Given the description of an element on the screen output the (x, y) to click on. 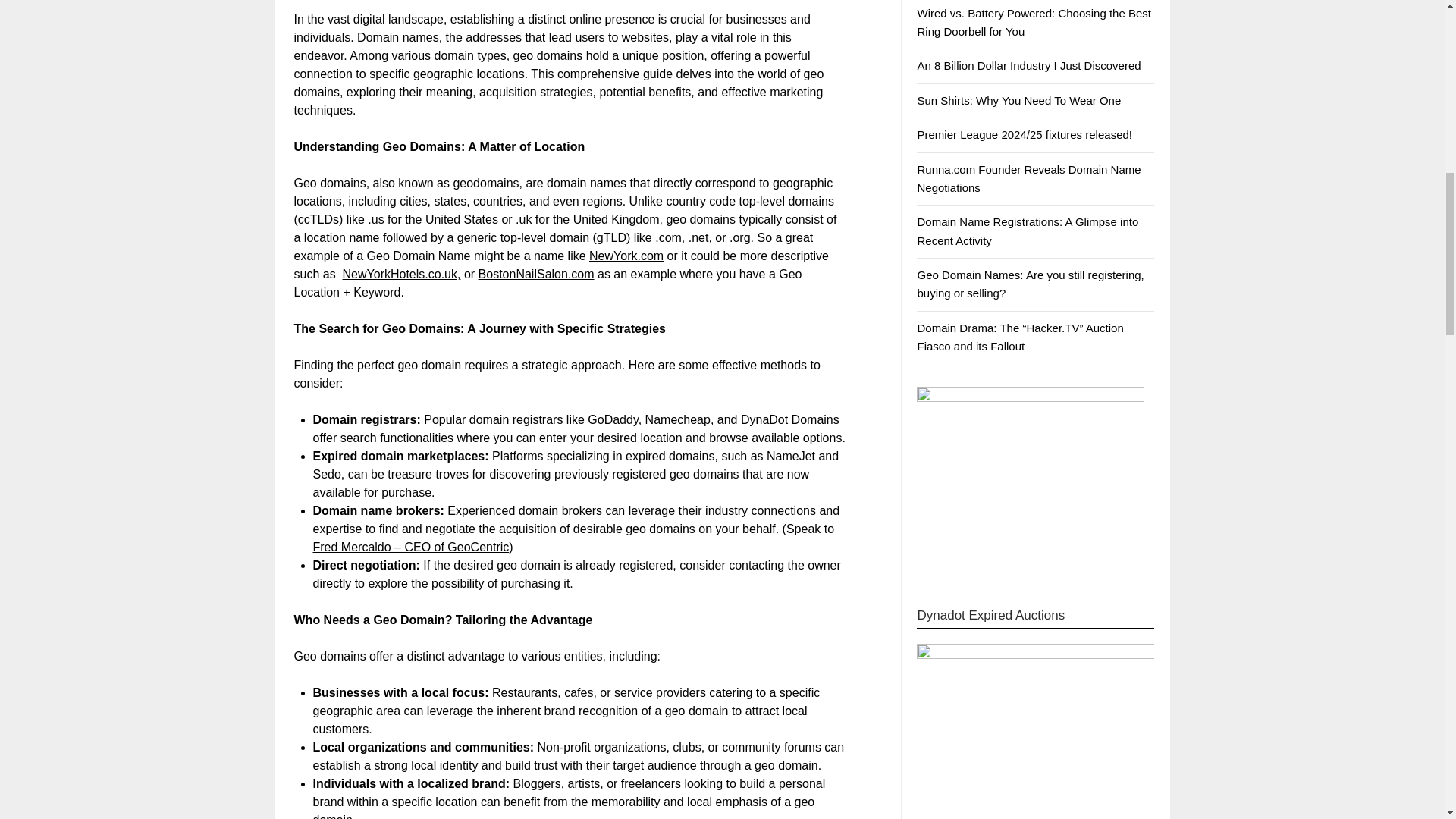
An 8 Billion Dollar Industry I Just Discovered (1028, 65)
GoDaddy (612, 419)
Namecheap (677, 419)
NewYorkHotels.co.uk, (401, 273)
DynaDot (764, 419)
BostonNailSalon.com (536, 273)
NewYork.com (626, 255)
Visit our Sponsor (1030, 481)
Sun Shirts: Why You Need To Wear One (1019, 100)
